Given the description of an element on the screen output the (x, y) to click on. 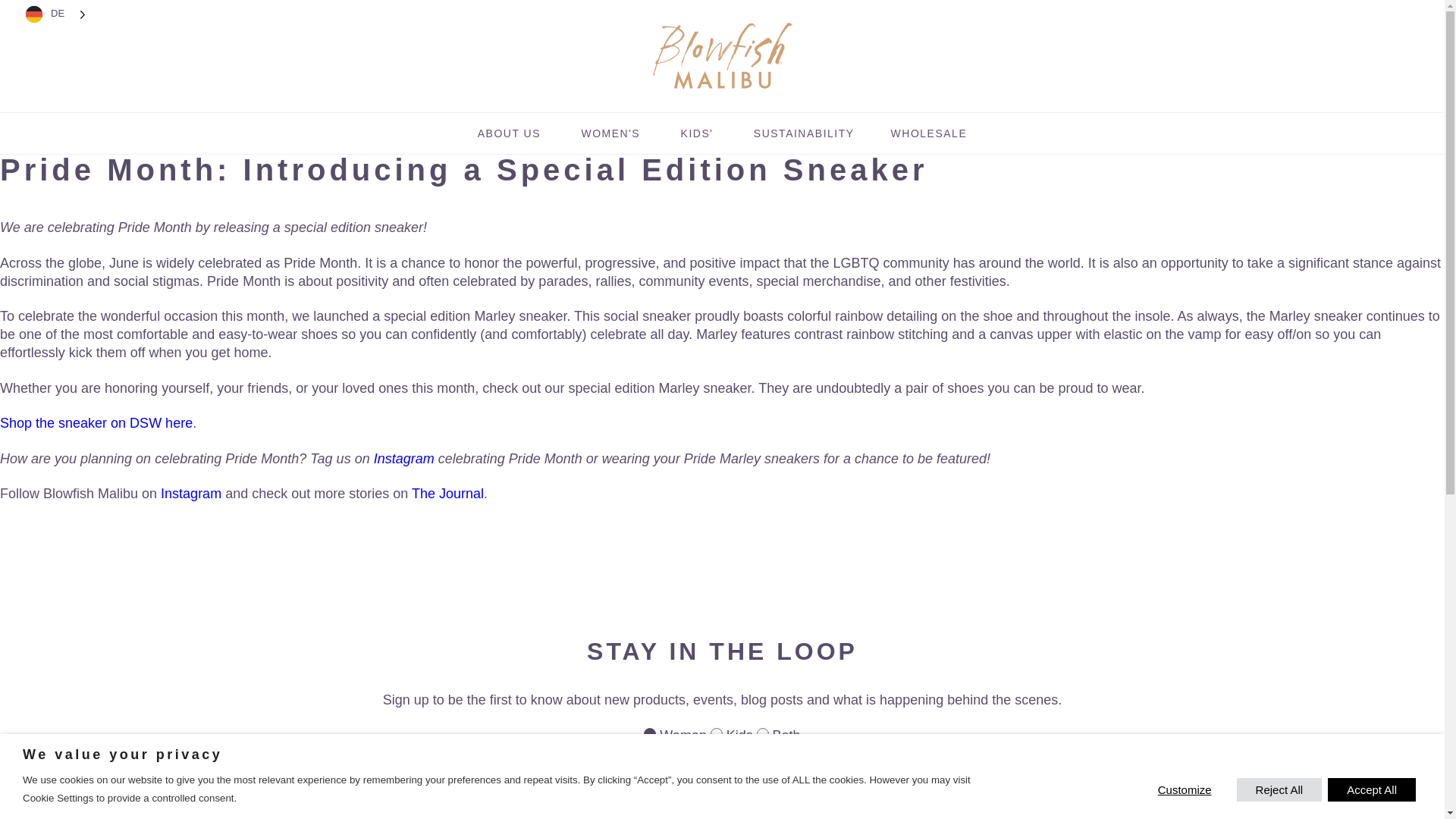
Accept All (1371, 789)
Customize (1184, 788)
Shop the sneaker on DSW here (96, 422)
KIDS' (696, 133)
SUBSCRIBE (843, 790)
The Journal (447, 493)
WOMEN'S (610, 133)
Instagram (403, 458)
SUSTAINABILITY (803, 133)
Instagram (190, 493)
WHOLESALE (929, 133)
Reject All (1279, 789)
ABOUT US (509, 133)
